Given the description of an element on the screen output the (x, y) to click on. 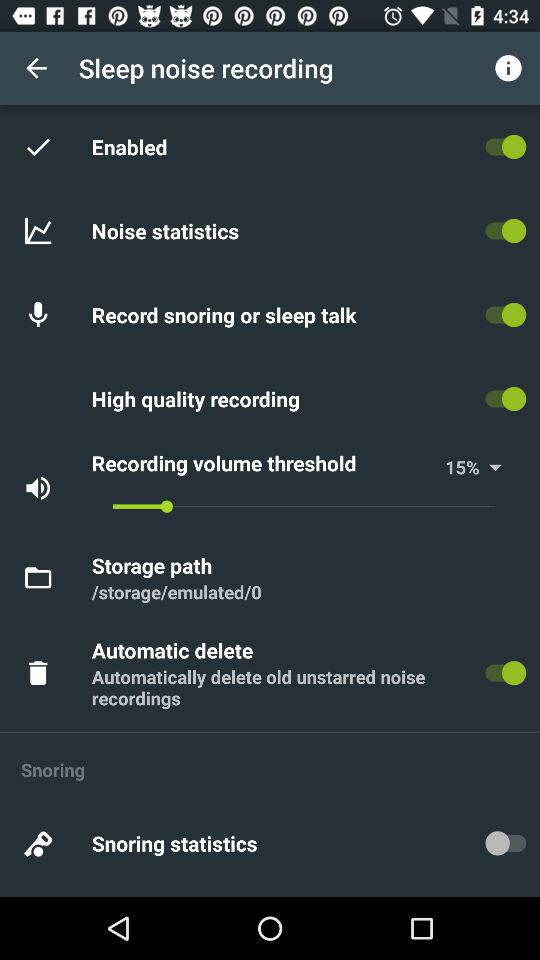
press the icon below the automatically delete old (270, 732)
